Given the description of an element on the screen output the (x, y) to click on. 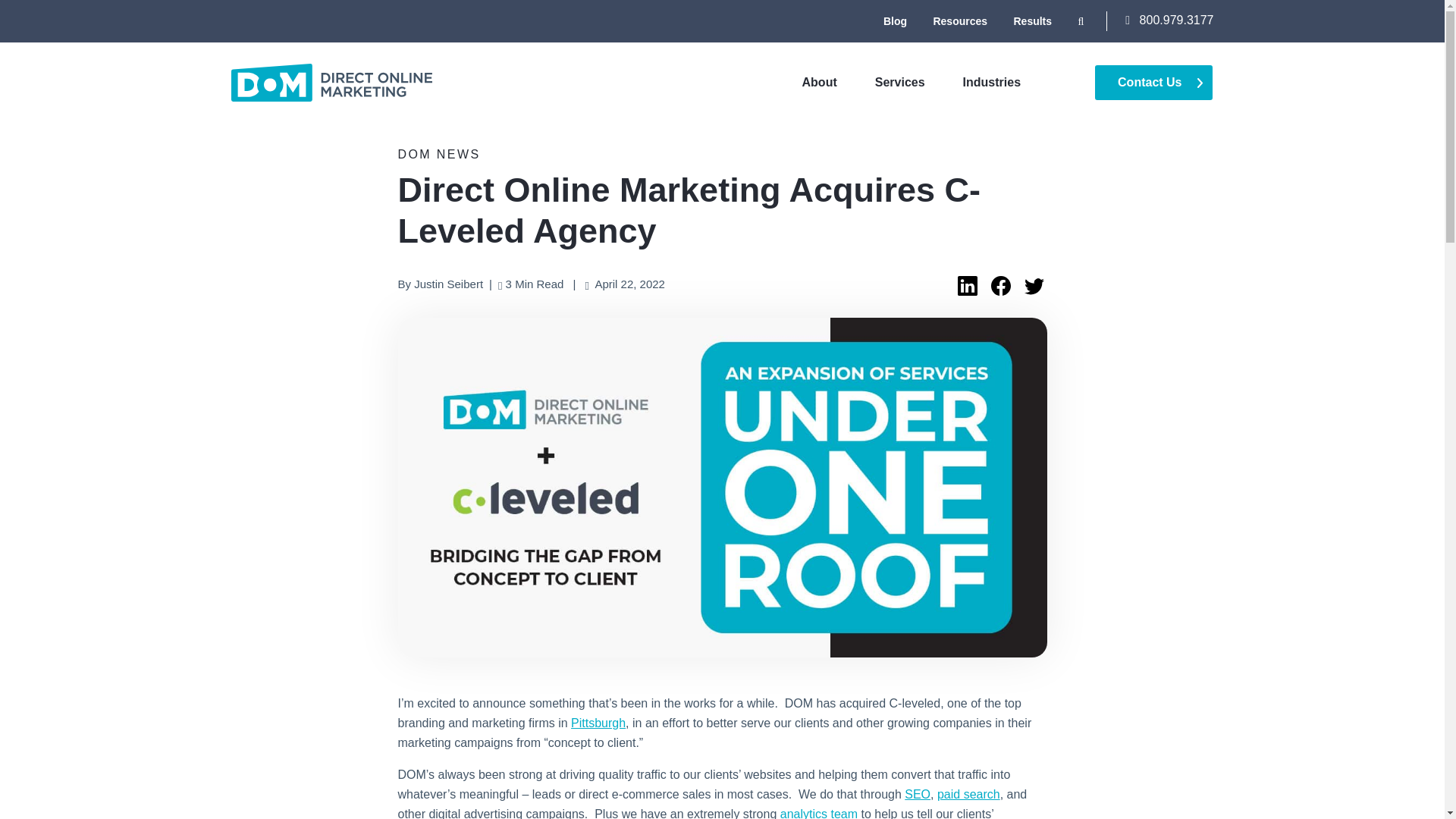
Services (899, 82)
800.979.3177 (1168, 19)
Results (1032, 21)
Twitter (1033, 287)
Resources (960, 21)
Contact Us (1152, 82)
About (819, 82)
Contact Us (1152, 82)
Industries (991, 82)
Industries (991, 82)
Results (1032, 21)
Blog (895, 21)
Services (899, 82)
About (819, 82)
SEO (917, 793)
